Given the description of an element on the screen output the (x, y) to click on. 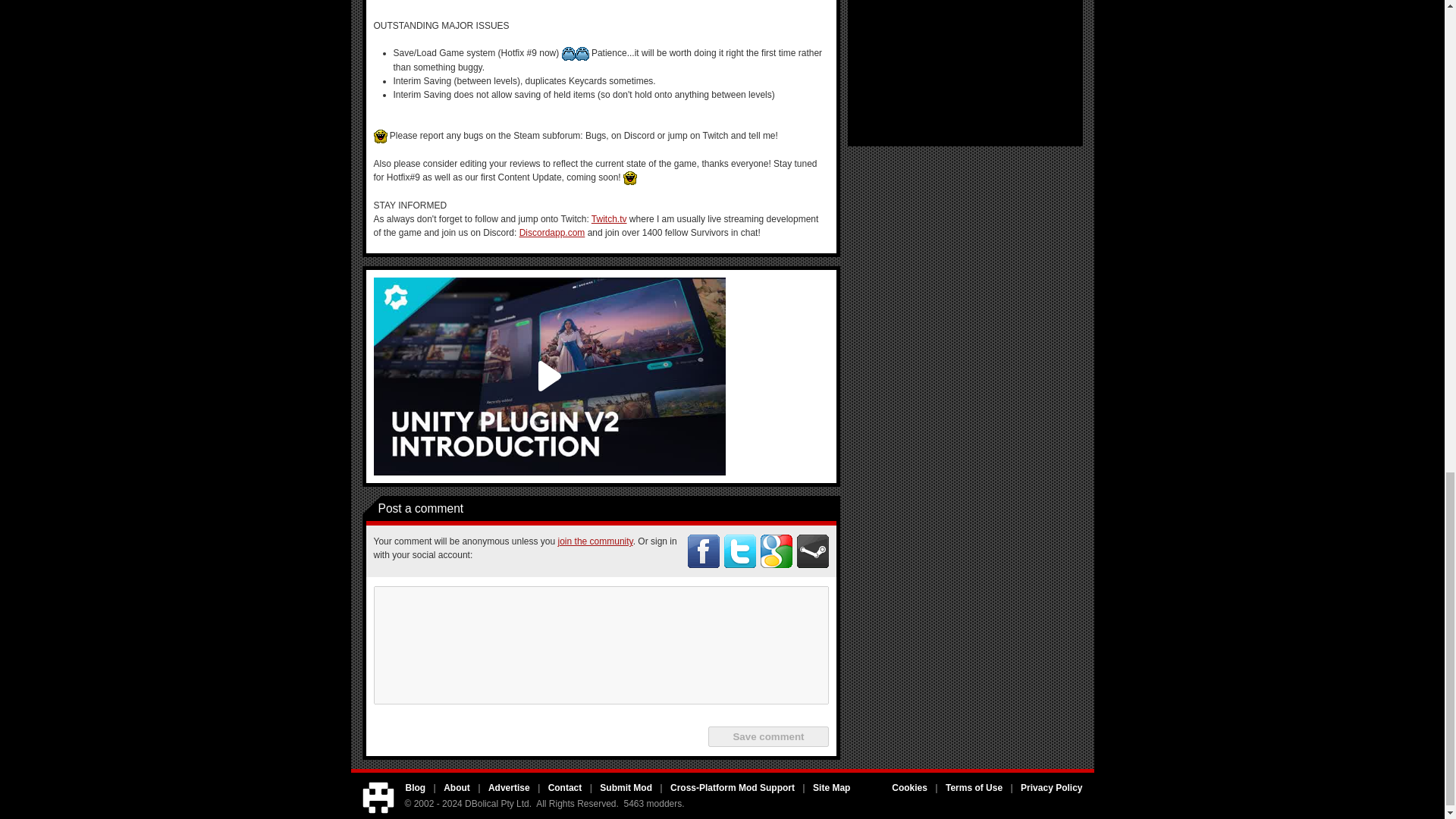
Save comment (767, 736)
Click to connect via Steam (812, 551)
Click to connect via Google (776, 551)
